Given the description of an element on the screen output the (x, y) to click on. 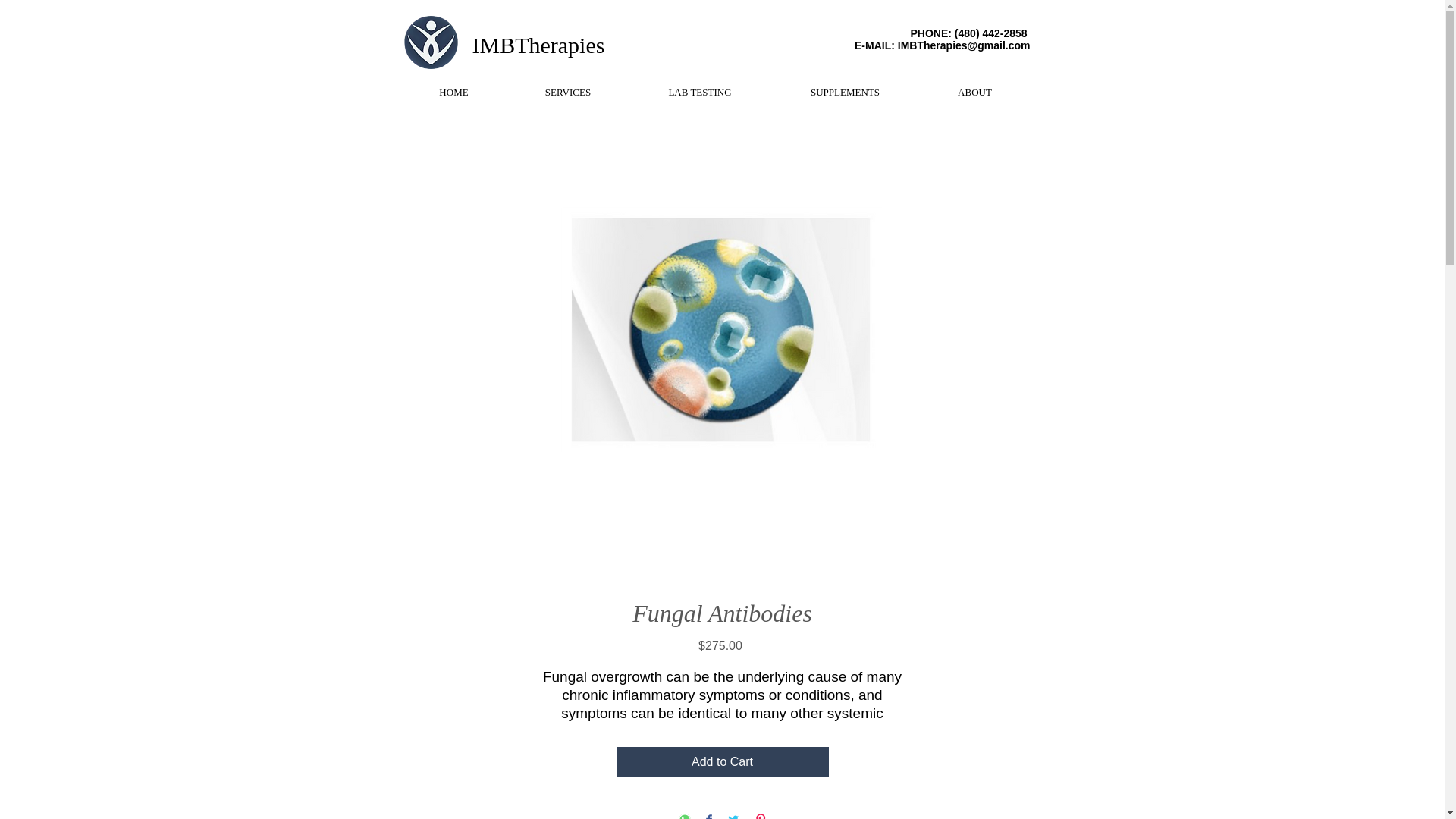
Add to Cart (721, 761)
HOME (453, 92)
SUPPLEMENTS (844, 92)
IMBTherapies (537, 44)
ABOUT (973, 92)
SERVICES (567, 92)
LAB TESTING (699, 92)
